Given the description of an element on the screen output the (x, y) to click on. 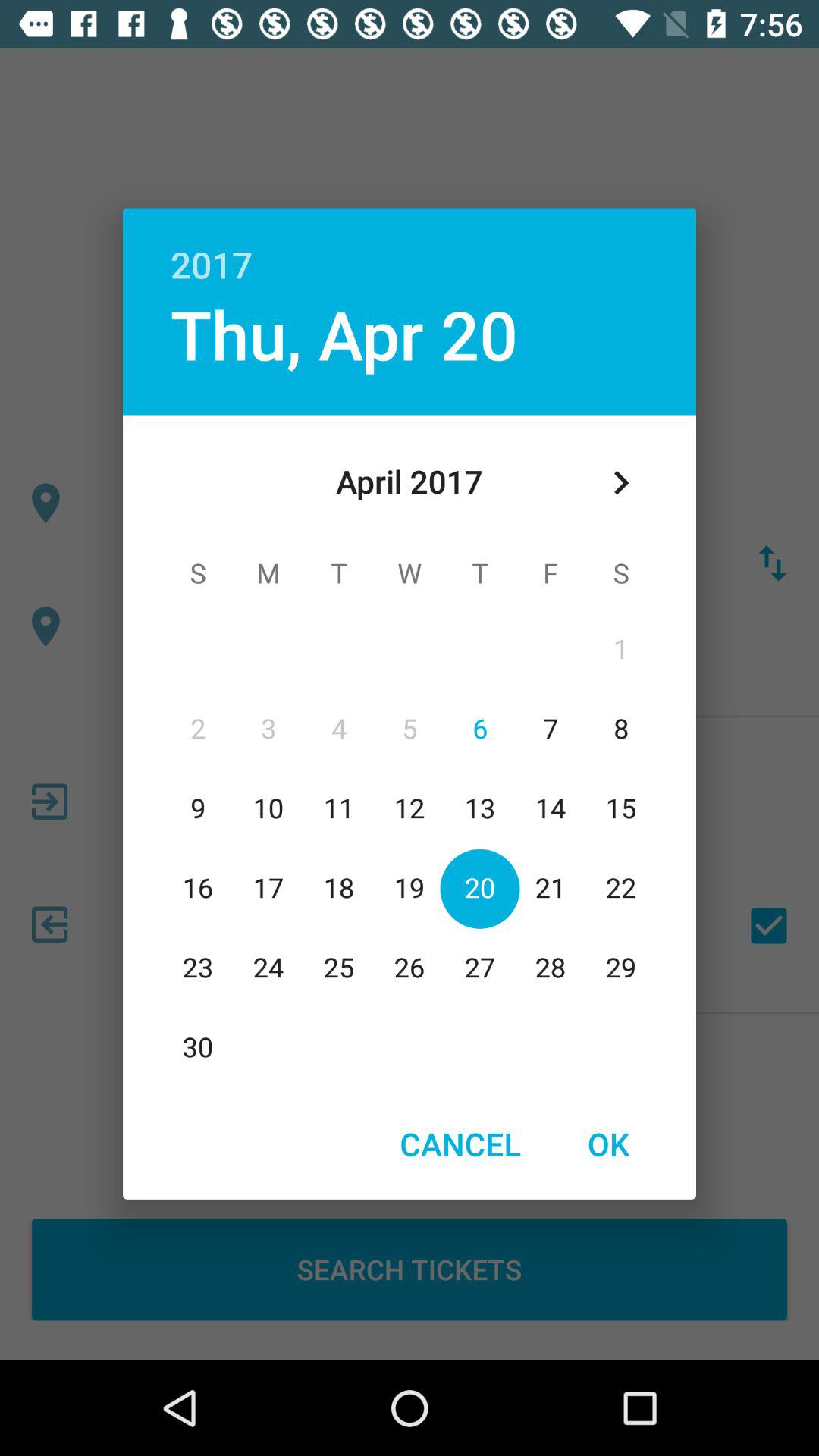
scroll to thu, apr 20 app (344, 333)
